Given the description of an element on the screen output the (x, y) to click on. 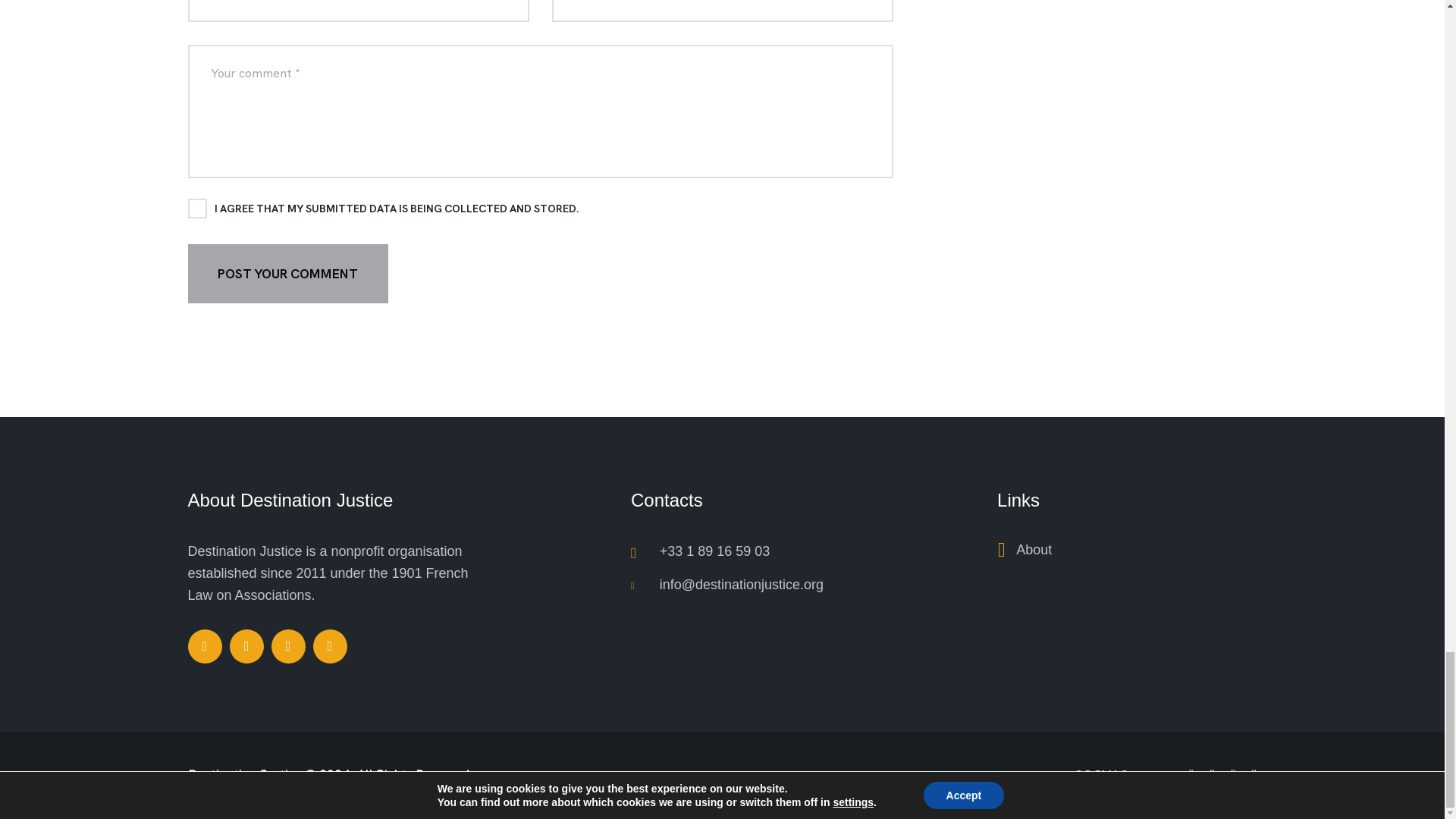
Post Your Comment (287, 273)
